Given the description of an element on the screen output the (x, y) to click on. 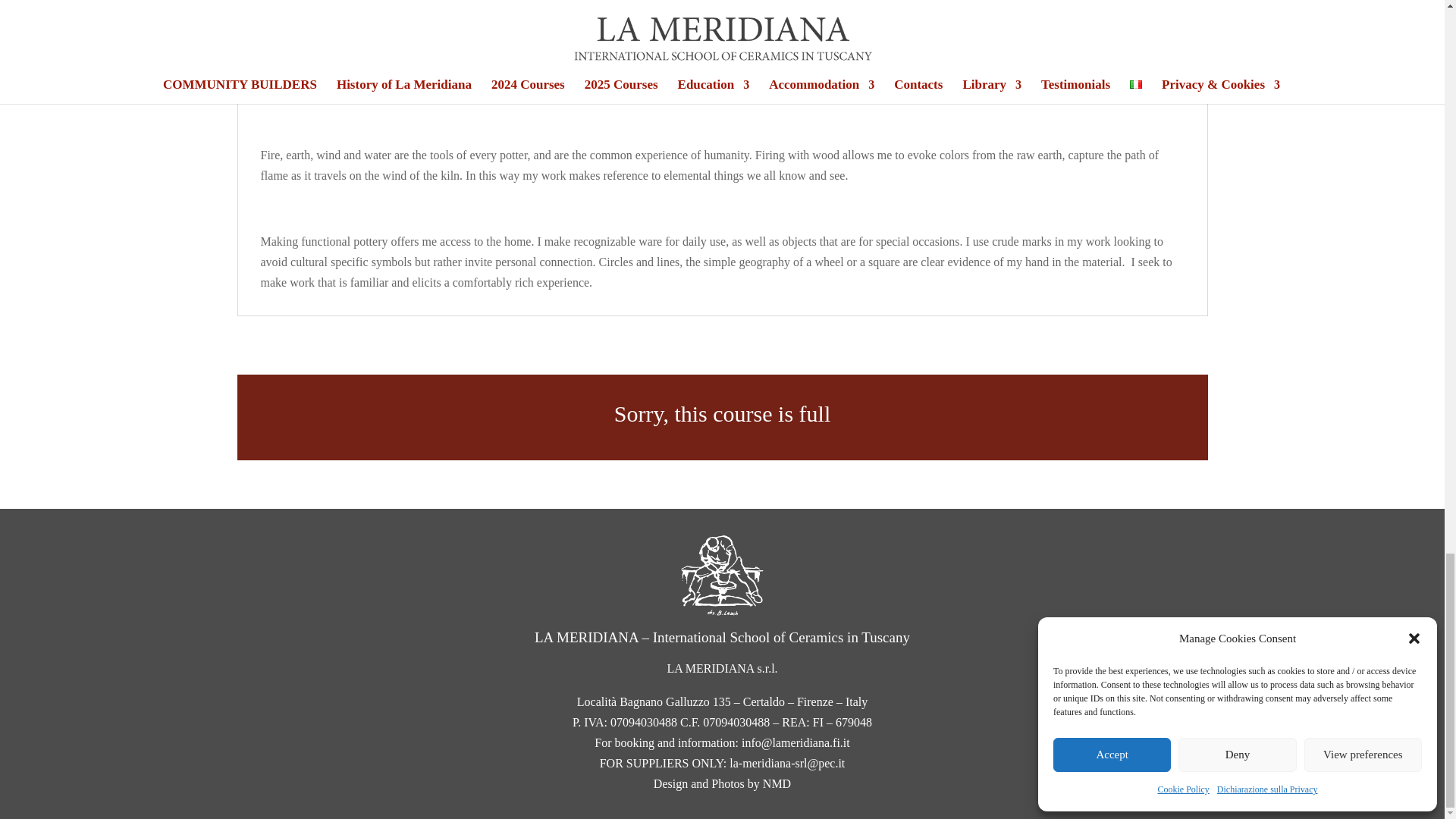
Logo Bianco (721, 575)
